Given the description of an element on the screen output the (x, y) to click on. 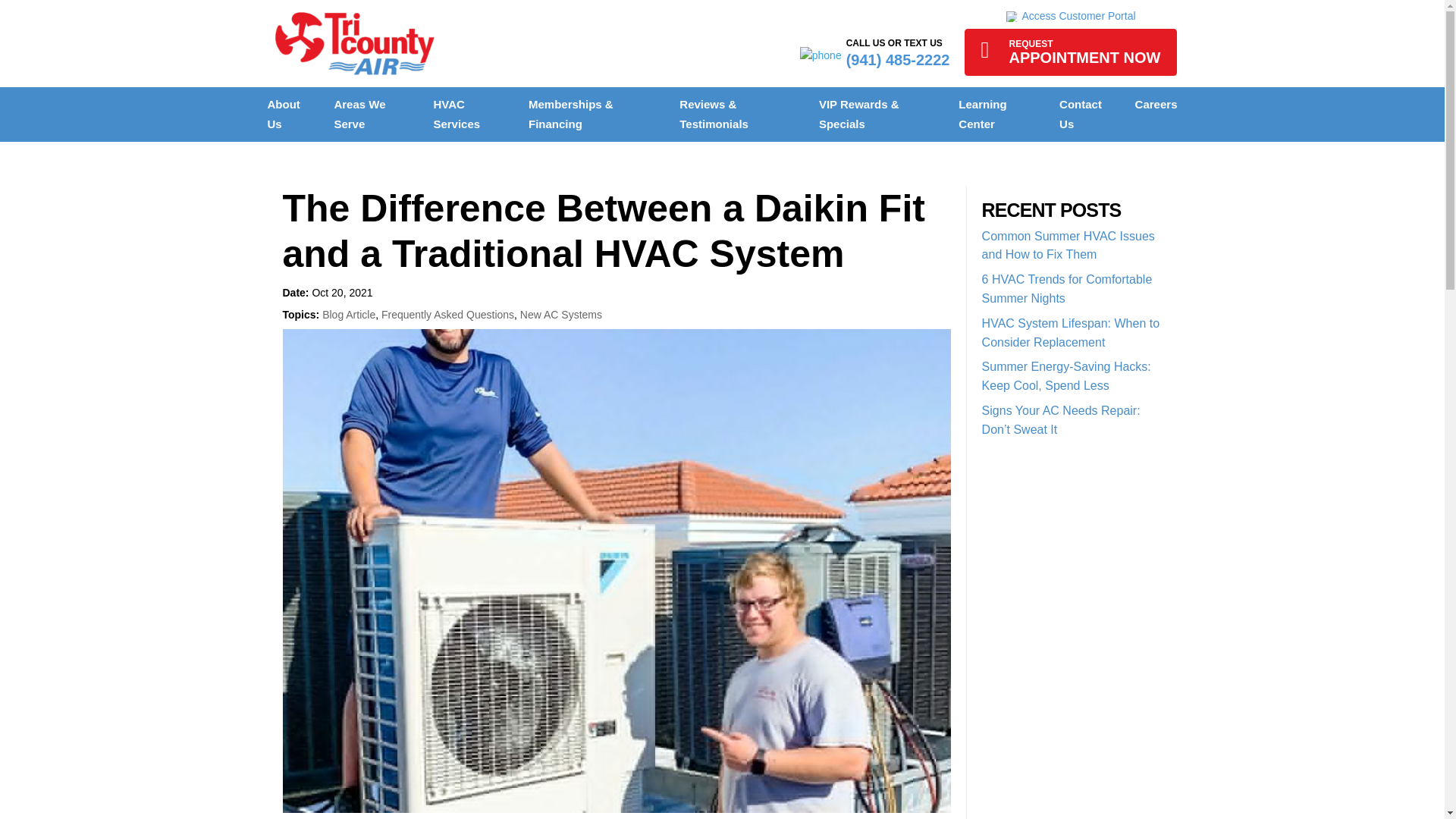
HVAC Services (456, 113)
Access Customer Portal (1069, 16)
Areas We Serve (1069, 52)
About Us (359, 113)
